Given the description of an element on the screen output the (x, y) to click on. 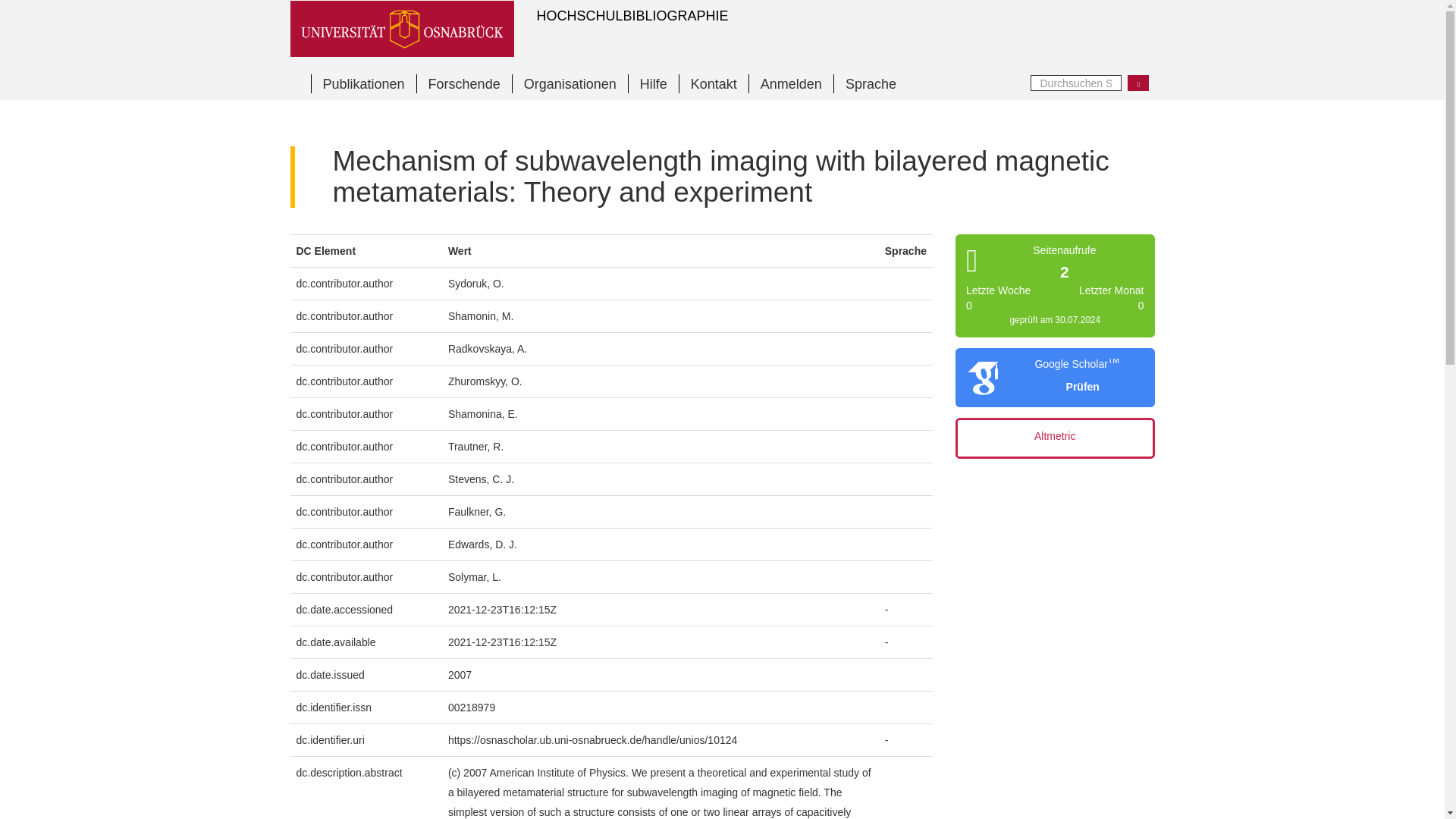
Forschende (464, 83)
Publikationen (363, 83)
Kontakt (713, 83)
Suchen Sie den Datensatz bei Google Scholar (1076, 386)
Hilfe (652, 83)
Sprache (869, 83)
Organisationen (569, 83)
Anmelden (790, 83)
